Given the description of an element on the screen output the (x, y) to click on. 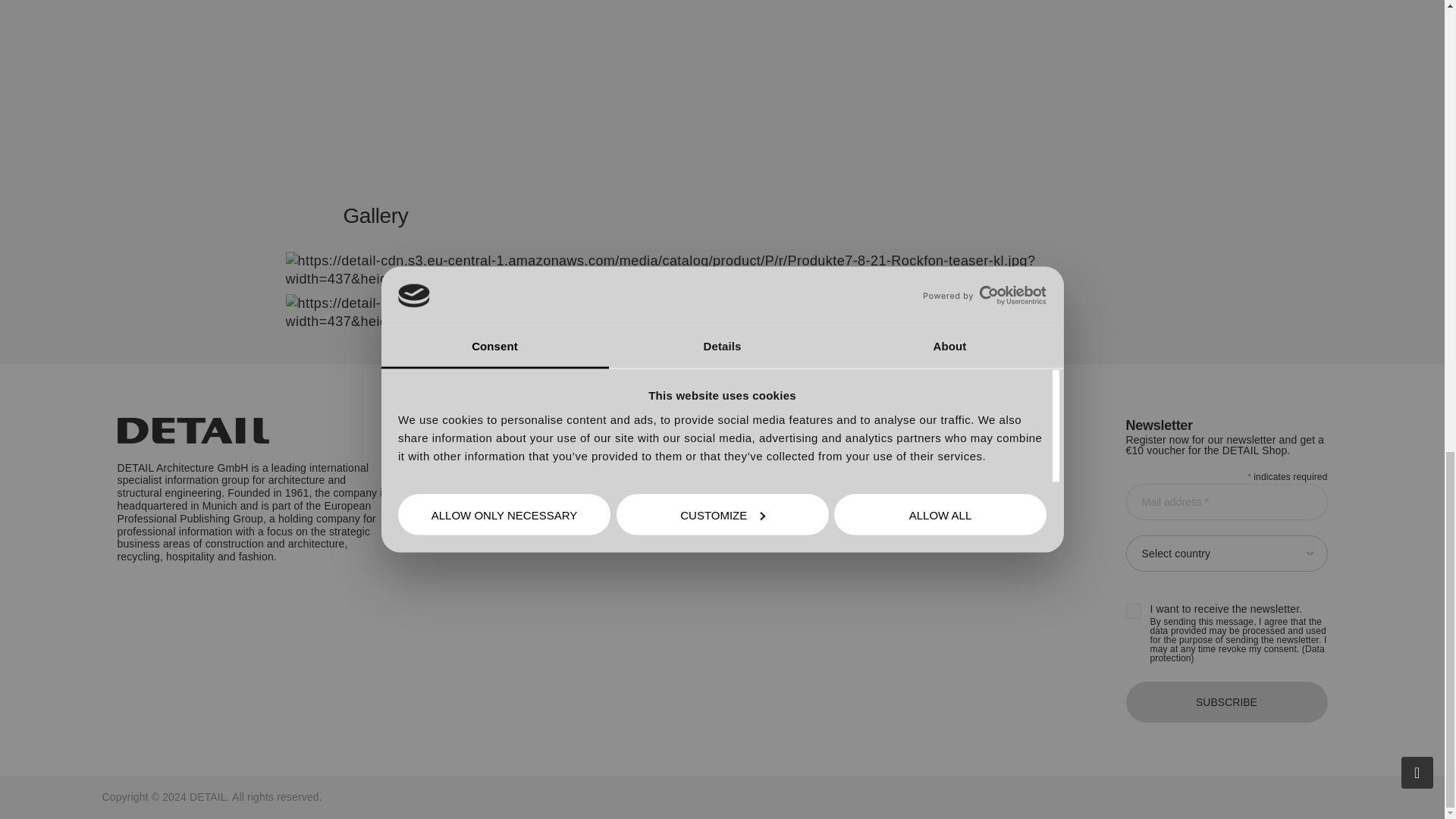
SUBSCRIBE (1225, 701)
on (1132, 611)
